Given the description of an element on the screen output the (x, y) to click on. 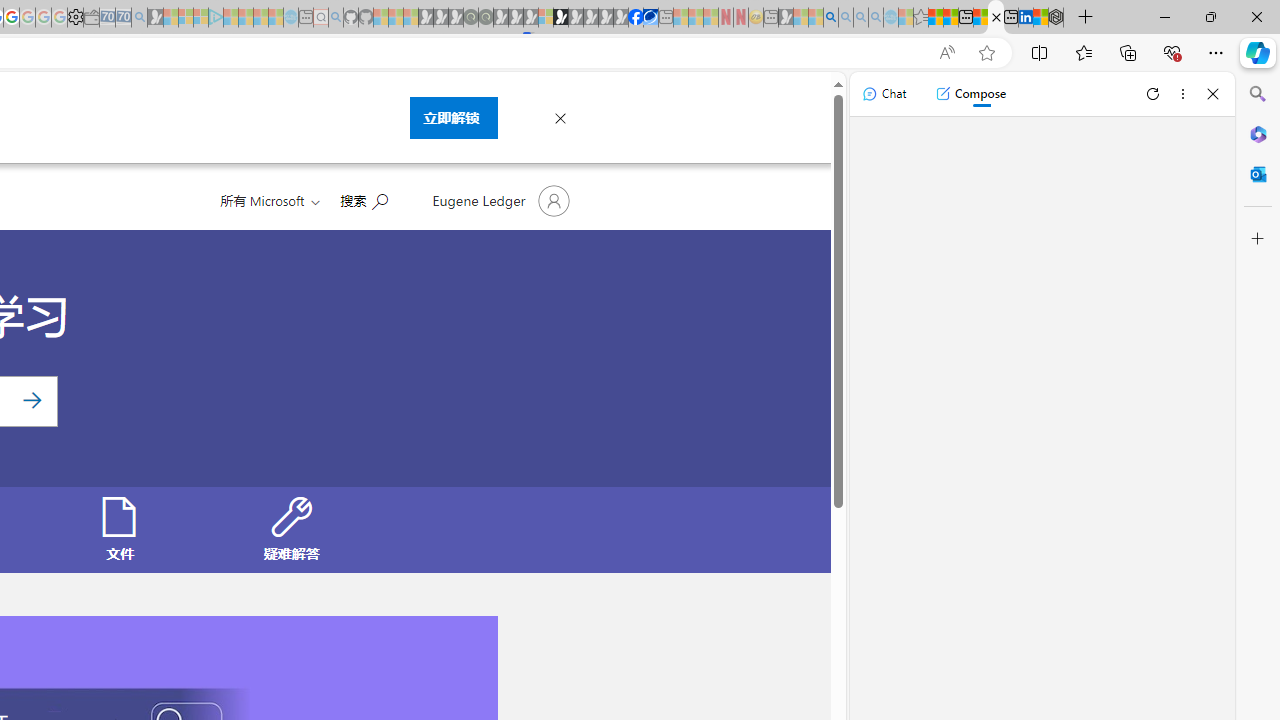
AQI & Health | AirNow.gov (650, 17)
